Given the description of an element on the screen output the (x, y) to click on. 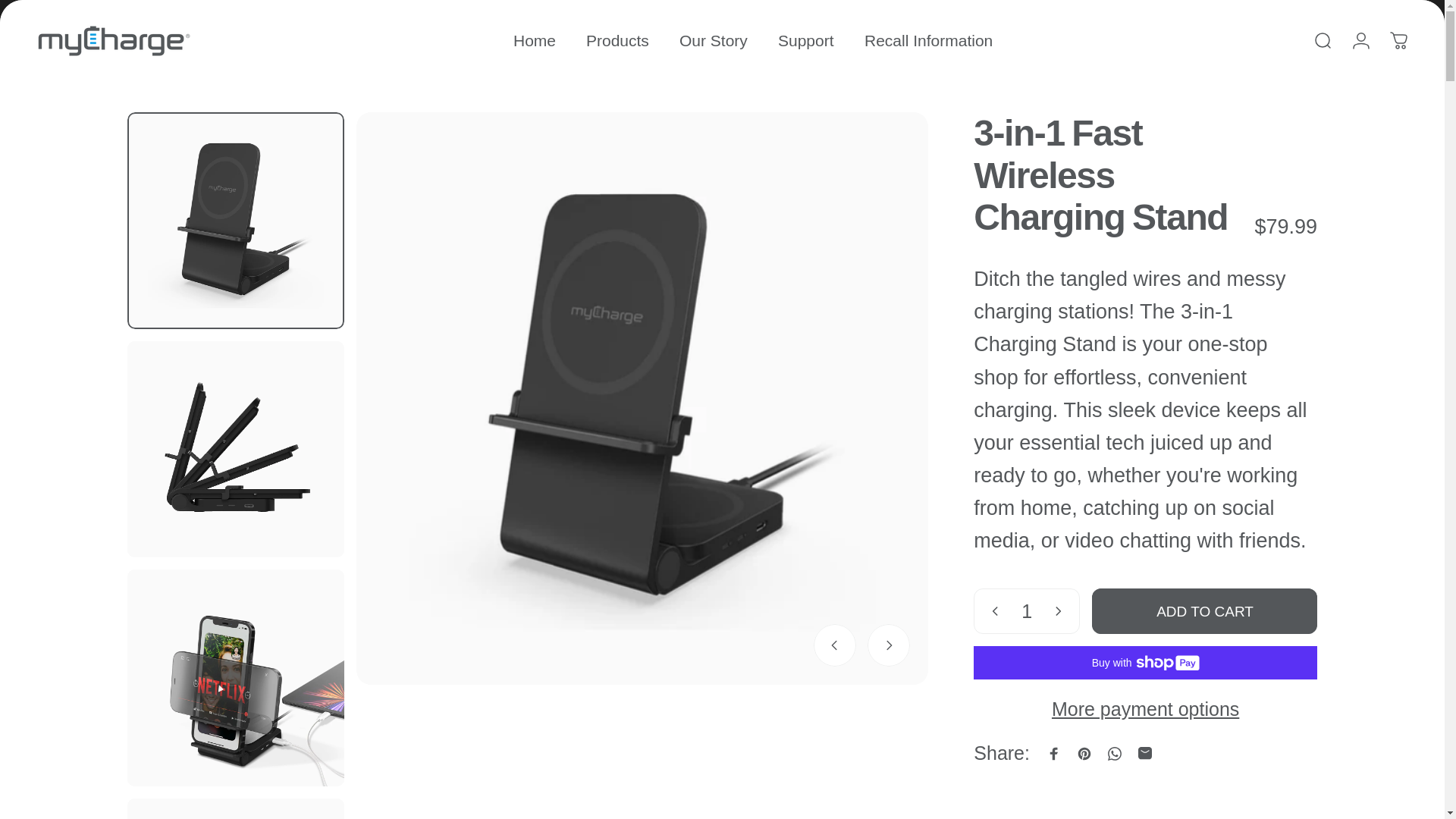
Share on Facebook (1053, 753)
Share on Facebook (1053, 753)
Home (533, 40)
Cart (1398, 40)
Share by Email (1144, 753)
Our Story (712, 40)
Search (1322, 40)
Support (805, 40)
mycharge.com (114, 40)
More payment options (1145, 709)
Pin on Pinterest (1083, 753)
Login (1360, 40)
ADD TO CART (1204, 610)
Pin on Pinterest (1083, 753)
Recall Information (927, 40)
